Given the description of an element on the screen output the (x, y) to click on. 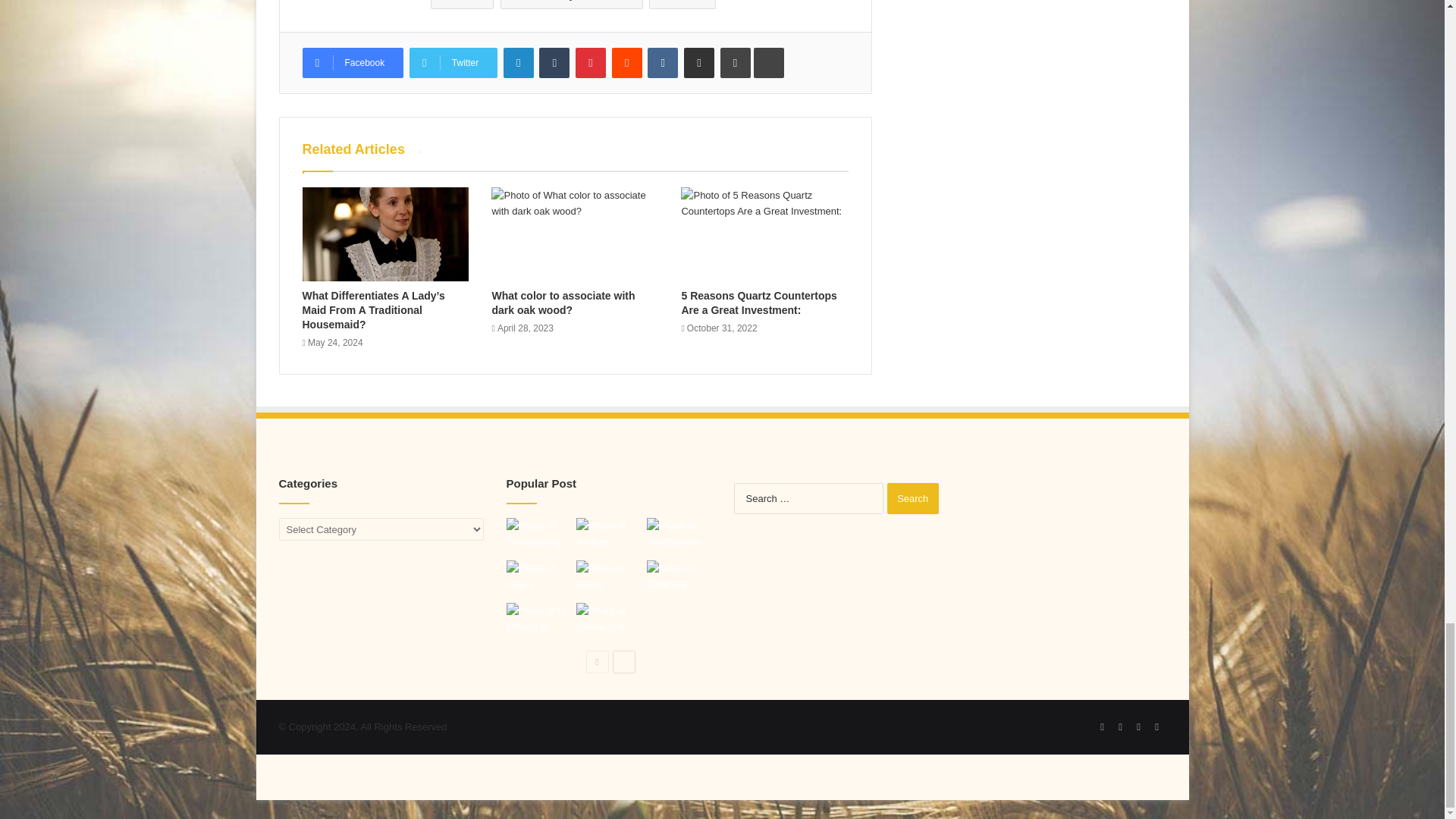
VKontakte (662, 62)
Search (912, 498)
Facebook (352, 62)
Tumblr (553, 62)
house (682, 4)
Pinterest (590, 62)
Twitter (453, 62)
home improvement (571, 4)
Tumblr (553, 62)
Facebook (352, 62)
LinkedIn (518, 62)
Print (735, 62)
Reddit (626, 62)
LinkedIn (518, 62)
Pinterest (590, 62)
